Given the description of an element on the screen output the (x, y) to click on. 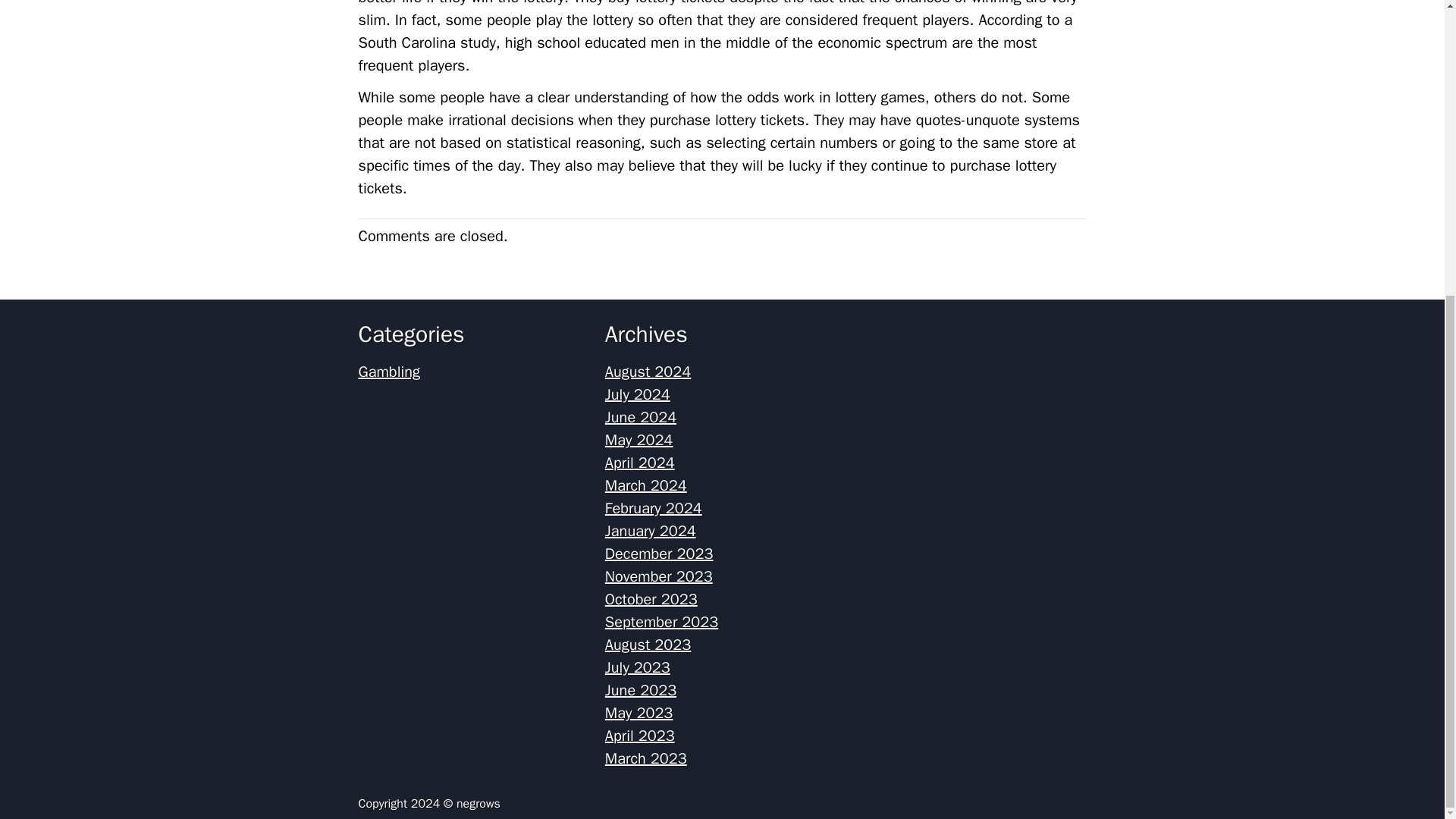
May 2024 (638, 439)
December 2023 (659, 553)
April 2024 (640, 462)
July 2024 (637, 394)
May 2023 (638, 712)
November 2023 (659, 576)
July 2023 (637, 667)
April 2023 (640, 735)
February 2024 (653, 507)
January 2024 (650, 530)
